Given the description of an element on the screen output the (x, y) to click on. 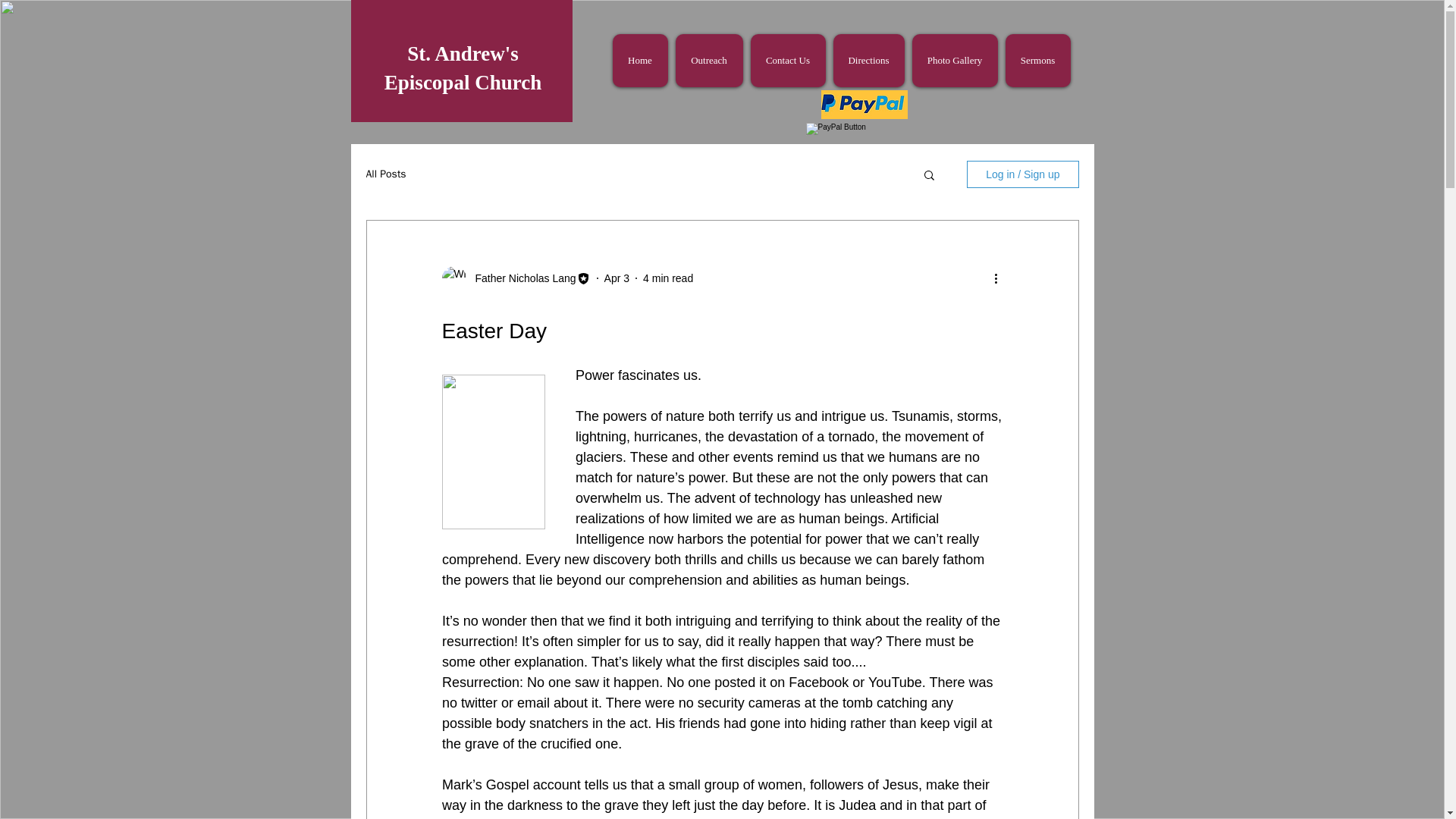
Sermons (1038, 60)
Contact Us (788, 60)
Apr 3 (616, 277)
Father Nicholas Lang (520, 277)
St. Andrew's Episcopal Church (462, 68)
Photo Gallery (954, 60)
Outreach (708, 60)
Directions (868, 60)
Home (640, 60)
4 min read (668, 277)
